Given the description of an element on the screen output the (x, y) to click on. 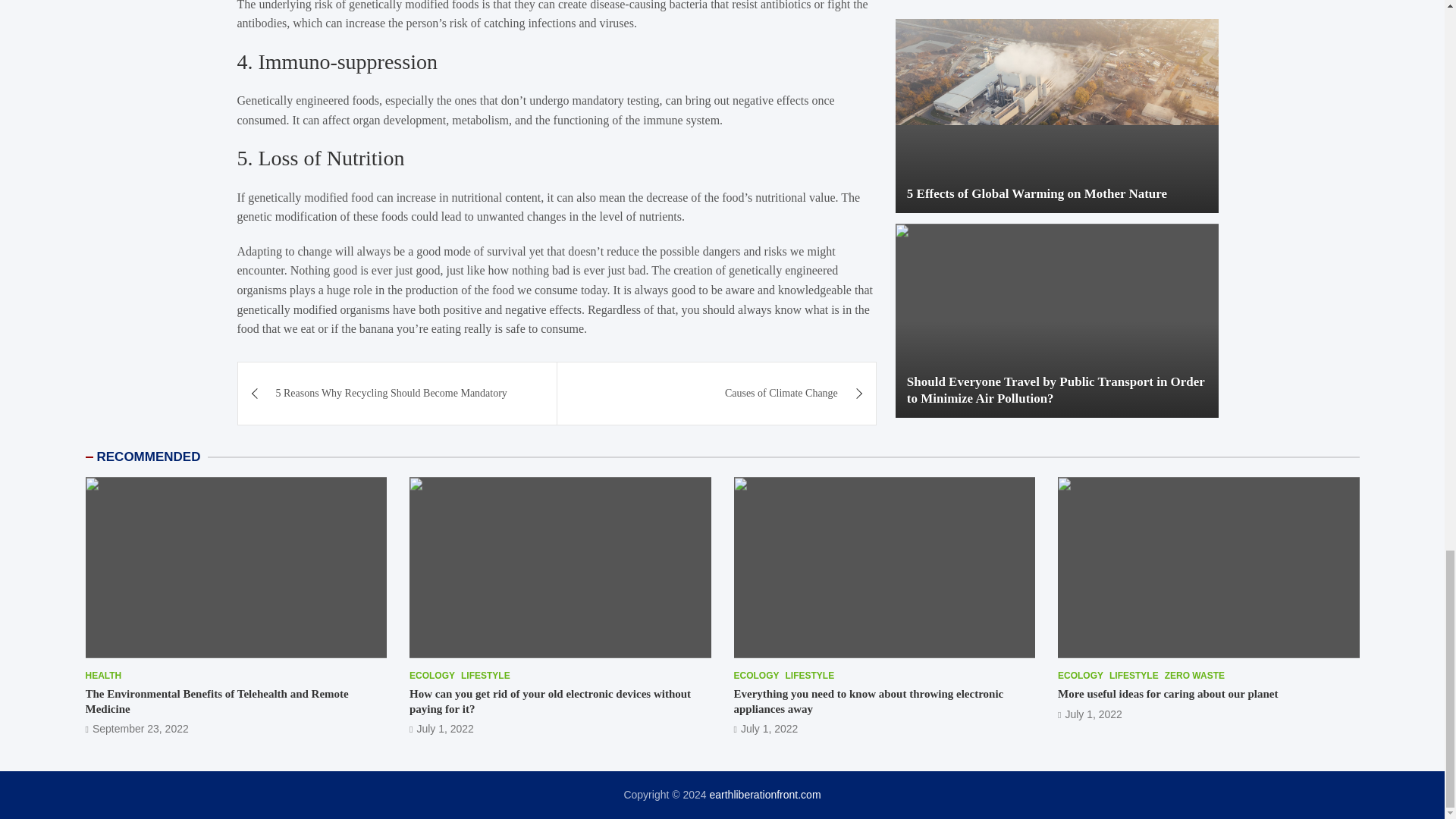
The Environmental Benefits of Telehealth and Remote Medicine (215, 700)
ECOLOGY (431, 676)
earthliberationfront.com (765, 794)
LIFESTYLE (486, 676)
5 Reasons Why Recycling Should Become Mandatory (397, 393)
Causes of Climate Change (716, 393)
More useful ideas for caring about our planet (1090, 713)
September 23, 2022 (135, 728)
